Given the description of an element on the screen output the (x, y) to click on. 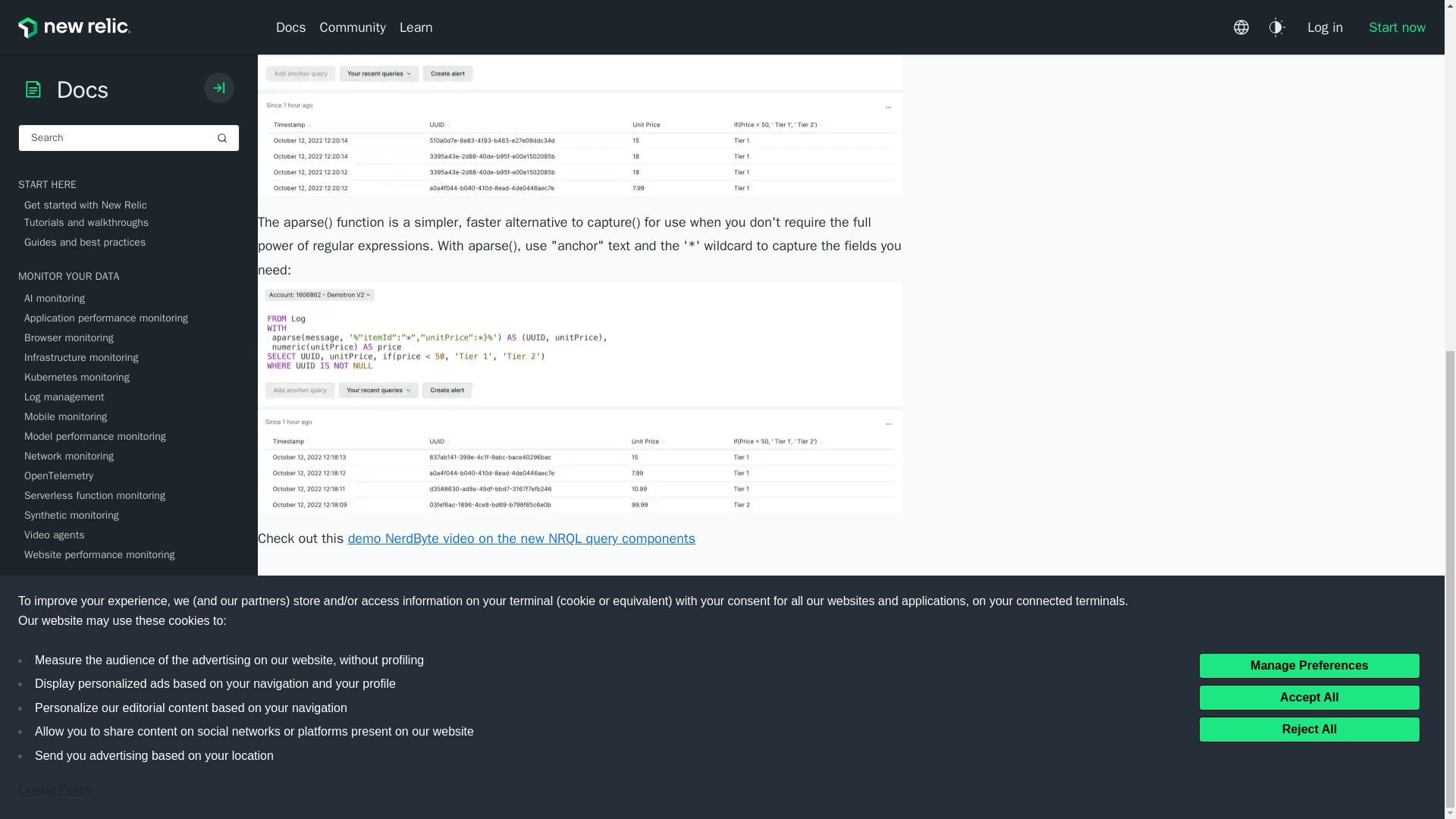
Cookie Policy (54, 181)
NRQL with capture (579, 97)
Accept All (1309, 87)
Manage Preferences (1309, 55)
Reject All (1309, 119)
